Given the description of an element on the screen output the (x, y) to click on. 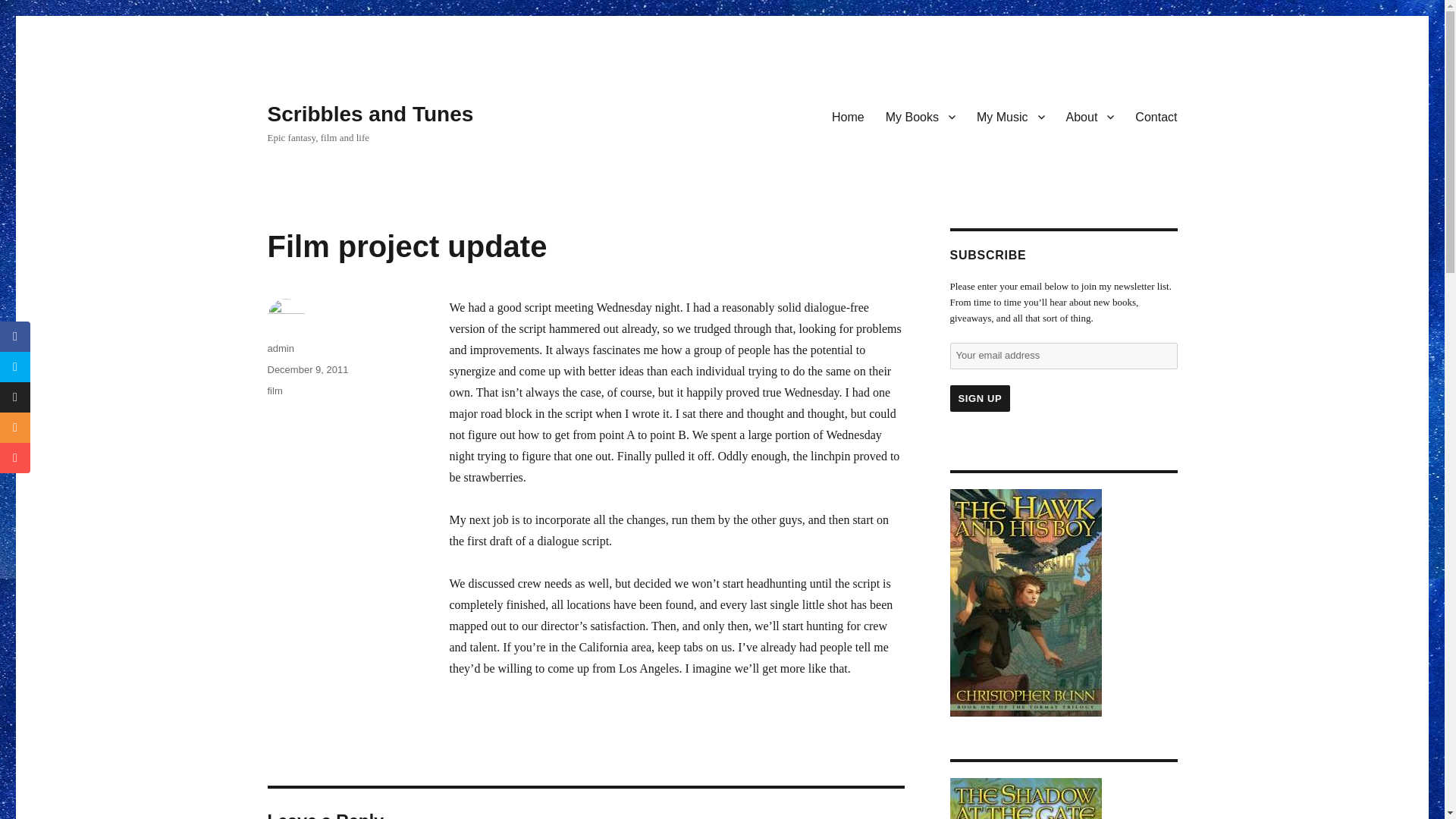
film (274, 390)
Scribbles and Tunes (369, 114)
My Books (920, 116)
About (1090, 116)
December 9, 2011 (306, 369)
My Music (1010, 116)
Sign Up (979, 397)
admin (280, 348)
Home (848, 116)
Contact (1156, 116)
